Given the description of an element on the screen output the (x, y) to click on. 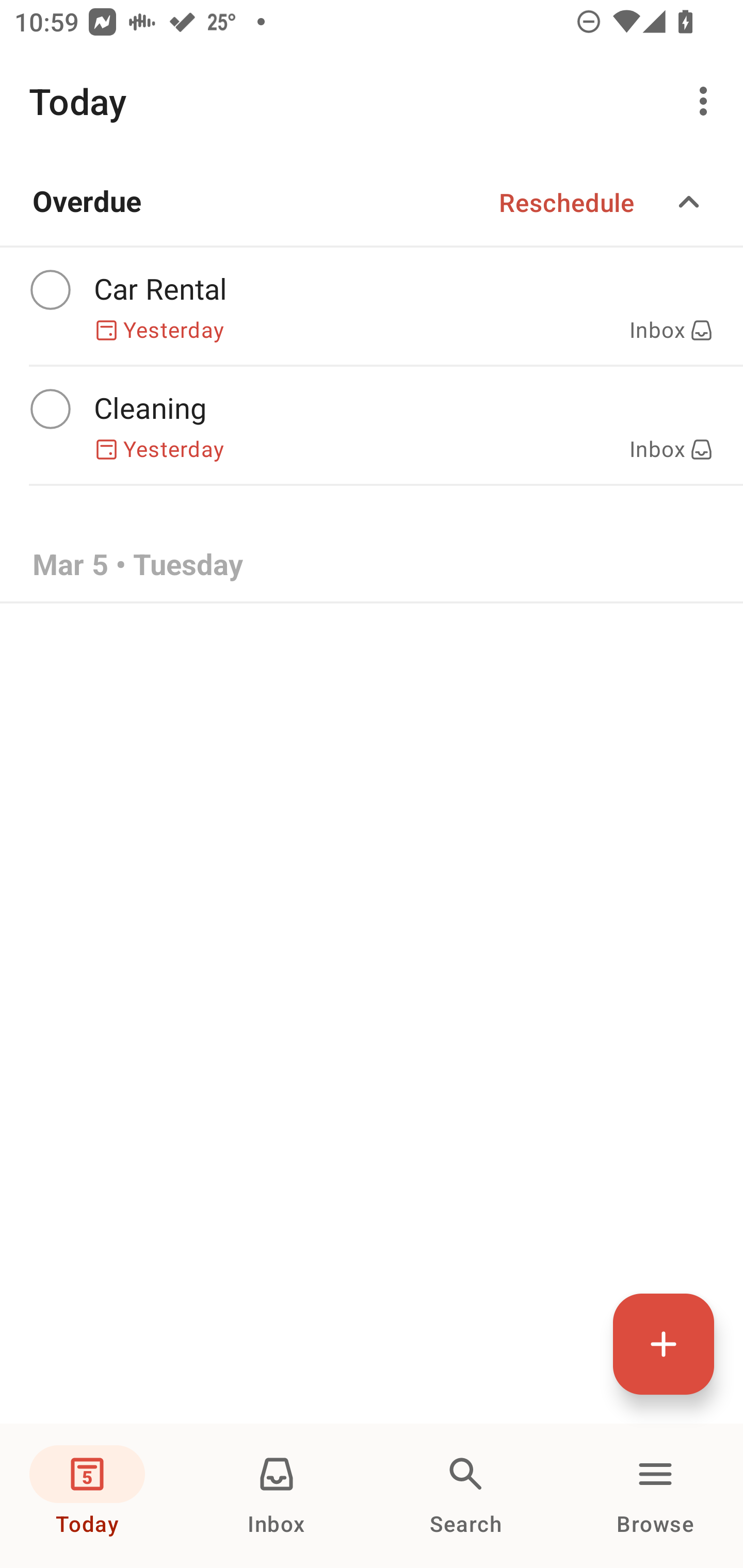
Today More options (371, 100)
More options (706, 101)
Overdue Reschedule Expand/collapse (371, 202)
Reschedule (566, 202)
Complete Car Rental Yesterday Inbox (371, 306)
Complete (50, 289)
Complete Cleaning Yesterday Inbox (371, 425)
Complete (50, 409)
Mar 5 • Tuesday (371, 565)
Quick add (663, 1343)
Inbox (276, 1495)
Search (465, 1495)
Browse (655, 1495)
